Given the description of an element on the screen output the (x, y) to click on. 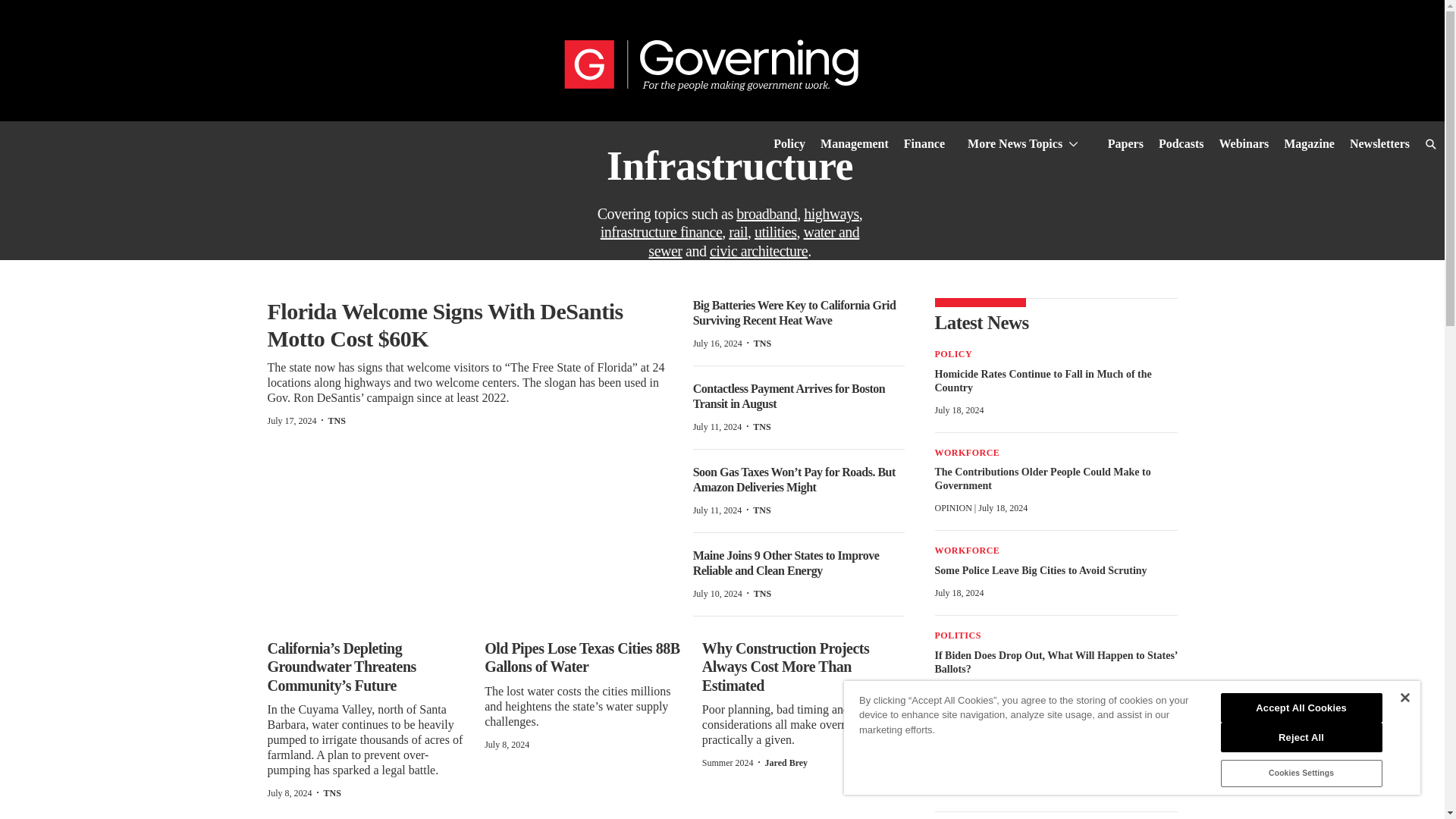
Newsletters (1379, 145)
Webinars (1243, 145)
Finance (924, 145)
Papers (1125, 145)
broadband (766, 213)
Magazine (1309, 145)
Management (854, 145)
Podcasts (1181, 145)
Policy (788, 145)
